Given the description of an element on the screen output the (x, y) to click on. 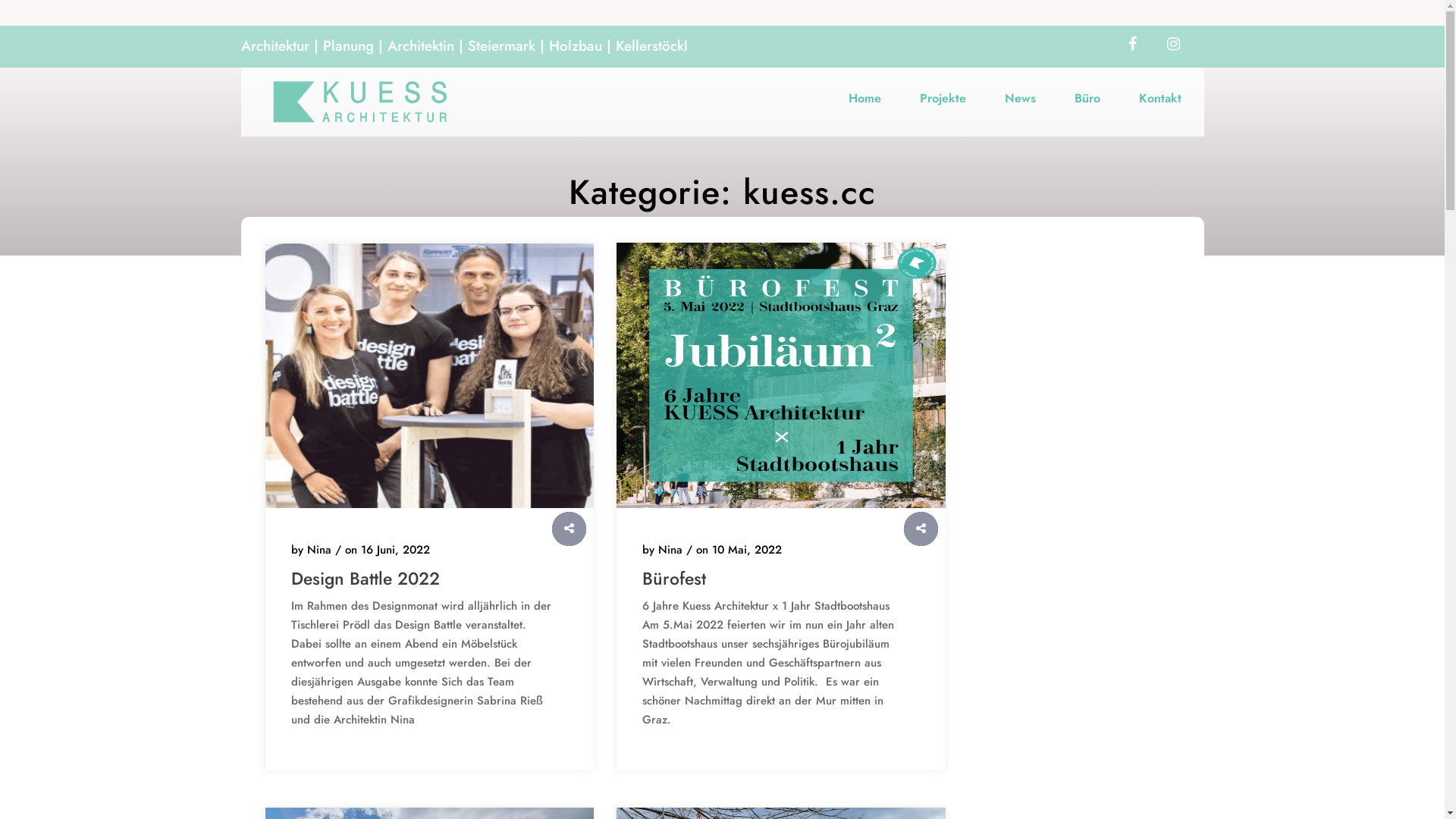
Home Element type: text (864, 97)
Projekte Element type: text (942, 97)
Facebook Element type: hover (1132, 44)
instagram Element type: hover (1173, 44)
Kontakt Element type: text (1159, 97)
Design Battle 2022 Element type: text (423, 578)
News Element type: text (1020, 97)
